Given the description of an element on the screen output the (x, y) to click on. 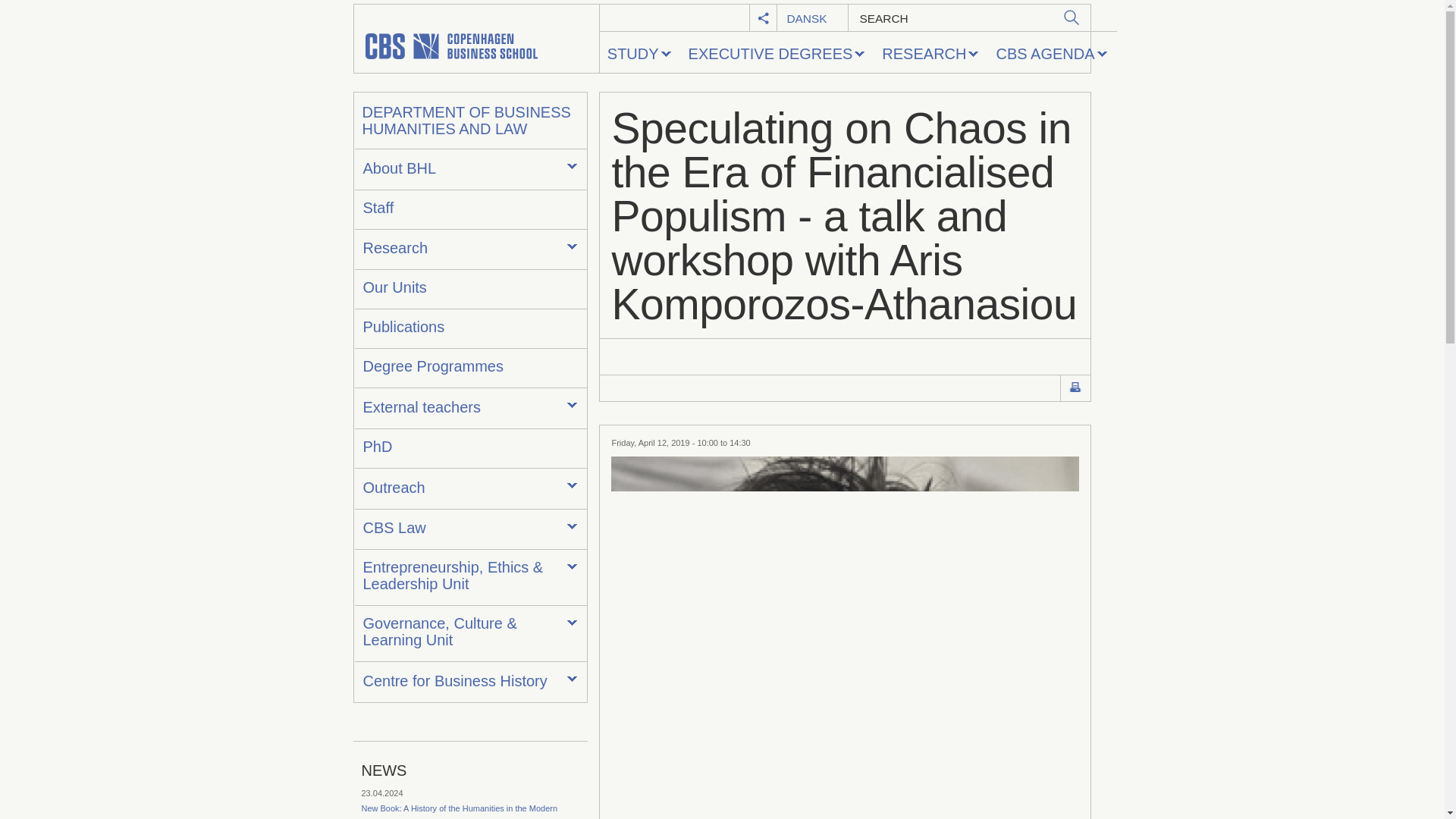
DANSK (806, 17)
STUDY (640, 52)
Search (1072, 16)
CBS AGENDA (1052, 52)
CBS (475, 38)
RESEARCH (931, 52)
Front page (475, 38)
Search (1072, 16)
